Given the description of an element on the screen output the (x, y) to click on. 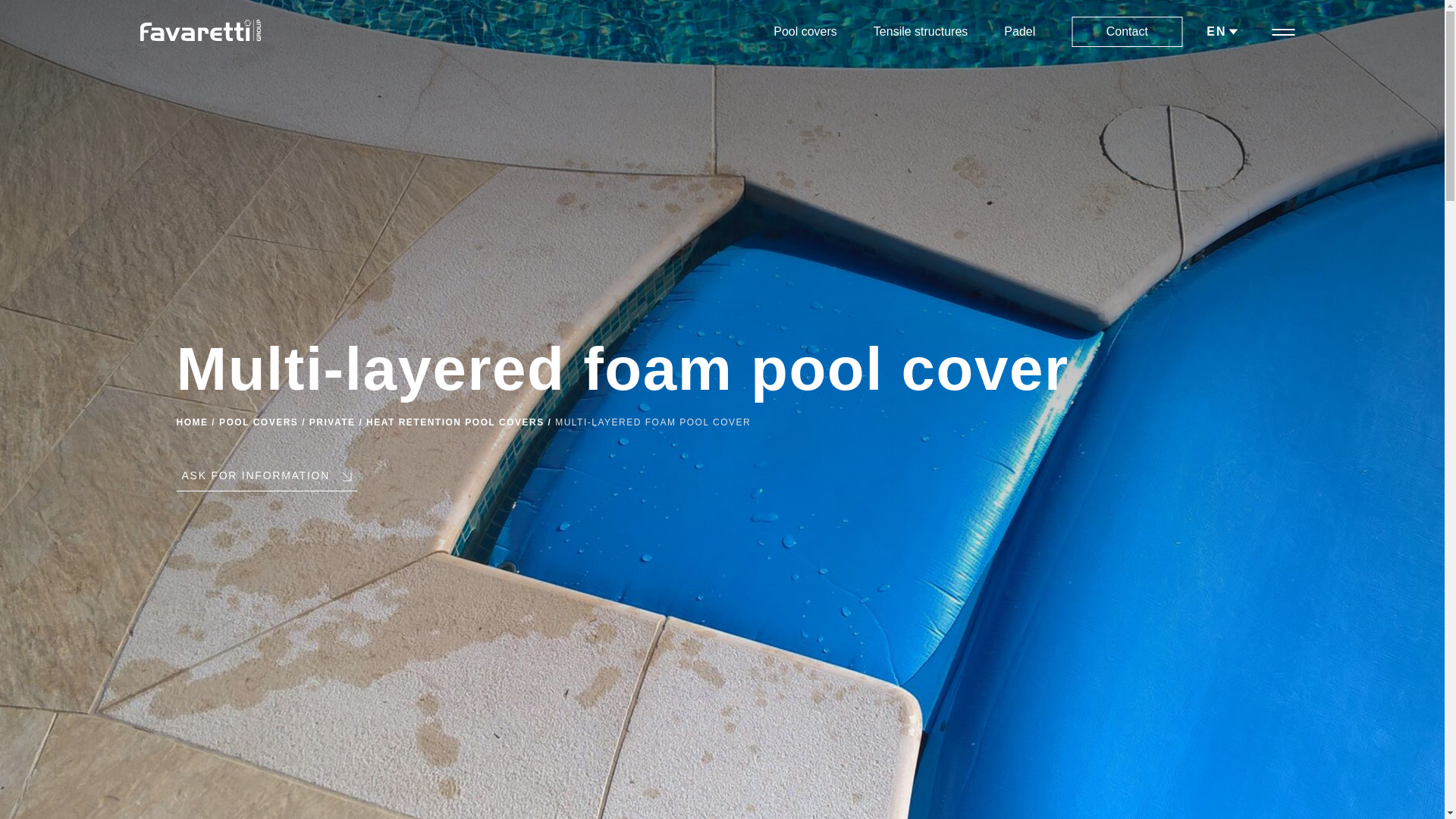
ASK FOR INFORMATION (266, 480)
Favaretti Group (199, 30)
Pool covers (805, 31)
Pool covers (805, 31)
